Given the description of an element on the screen output the (x, y) to click on. 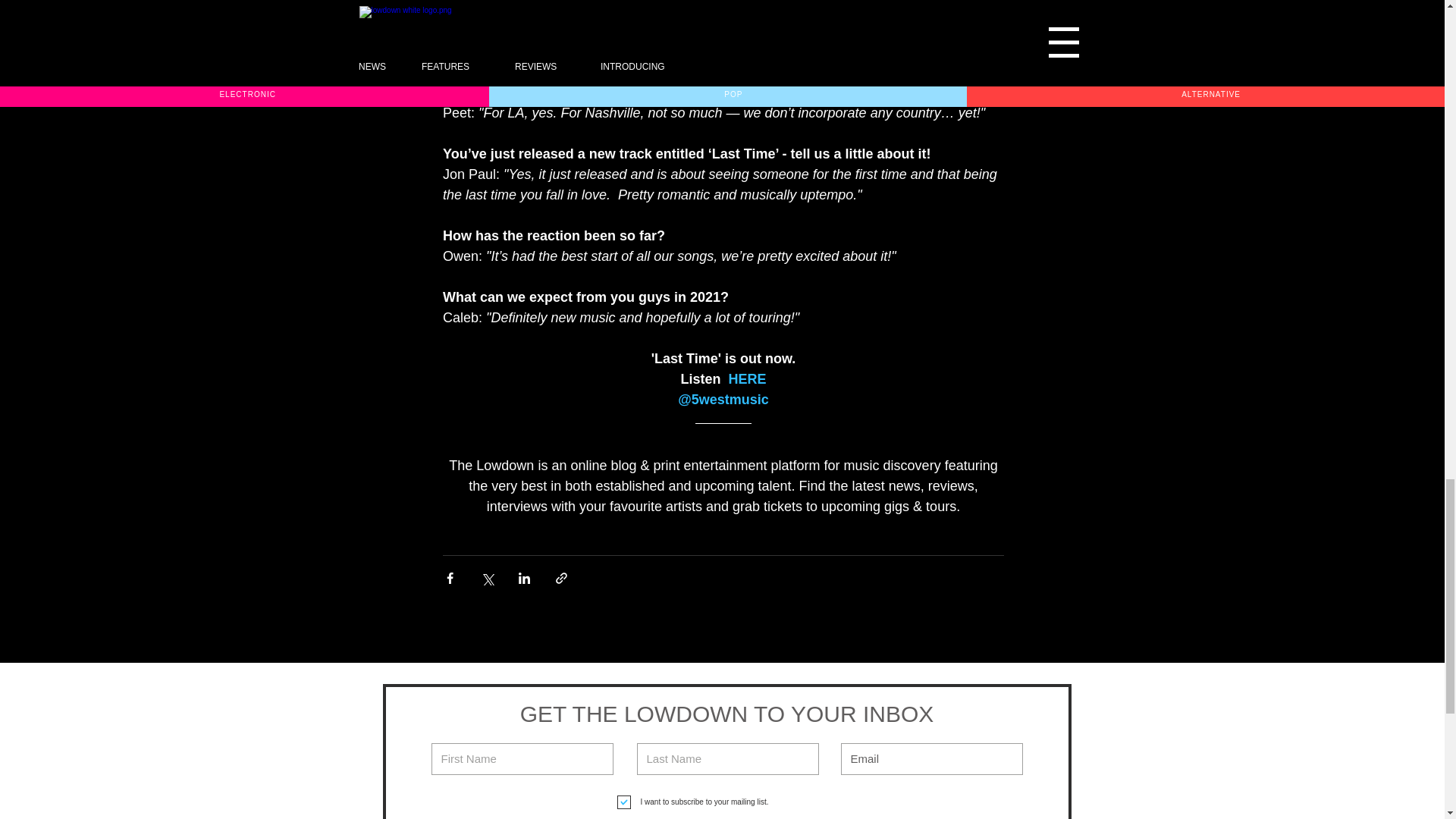
HERE (746, 378)
